Given the description of an element on the screen output the (x, y) to click on. 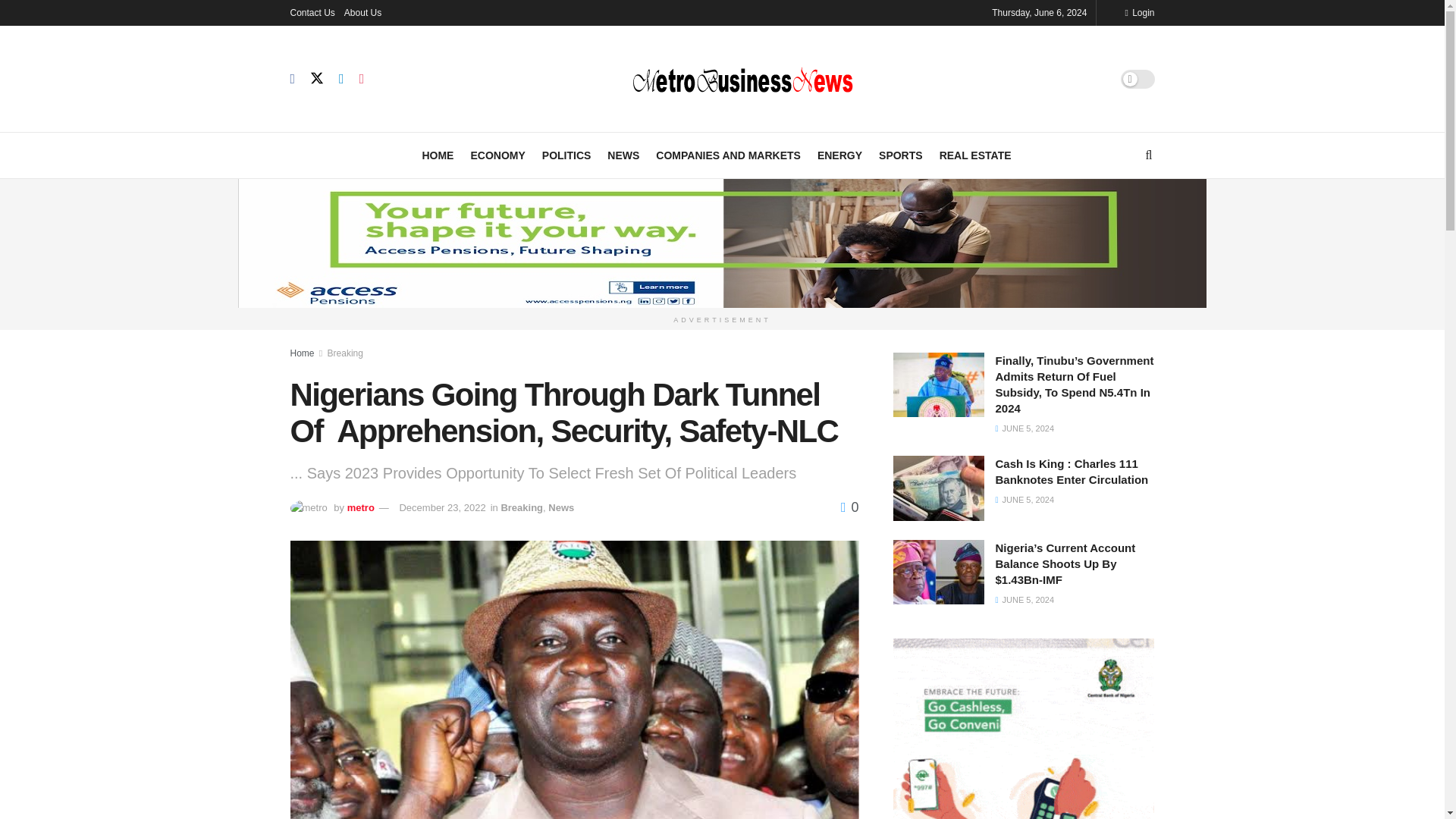
POLITICS (566, 155)
NEWS (623, 155)
Home (301, 352)
Breaking (344, 352)
About Us (362, 12)
Breaking (521, 507)
metro (360, 507)
December 23, 2022 (441, 507)
HOME (437, 155)
COMPANIES AND MARKETS (728, 155)
SPORTS (901, 155)
ENERGY (838, 155)
Login (1139, 12)
REAL ESTATE (975, 155)
Contact Us (311, 12)
